Given the description of an element on the screen output the (x, y) to click on. 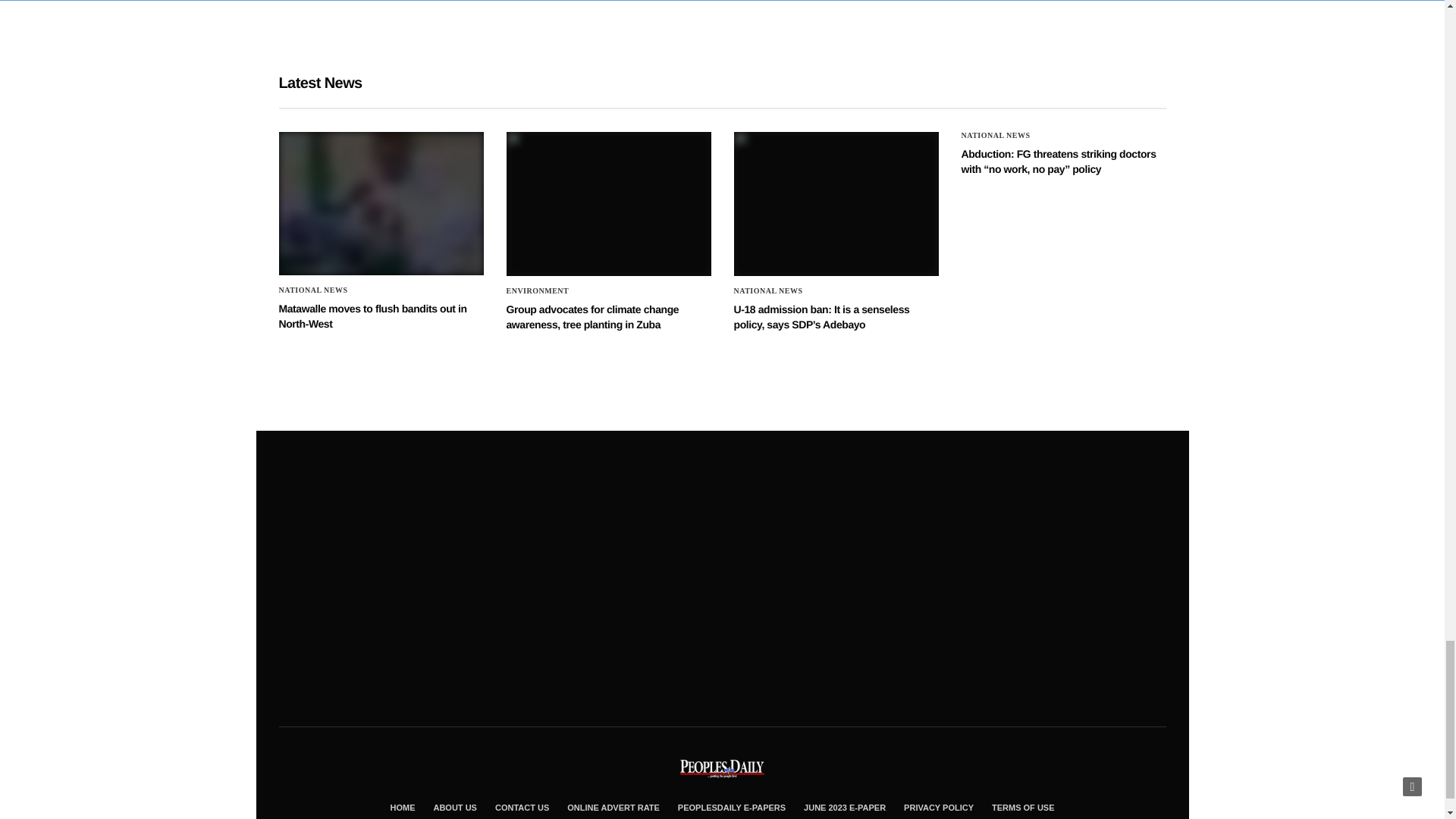
Matawalle moves to flush bandits out in North-West (381, 203)
Environment (537, 290)
National News (995, 135)
National News (313, 290)
National News (768, 290)
Matawalle moves to flush bandits out in North-West (373, 316)
